Given the description of an element on the screen output the (x, y) to click on. 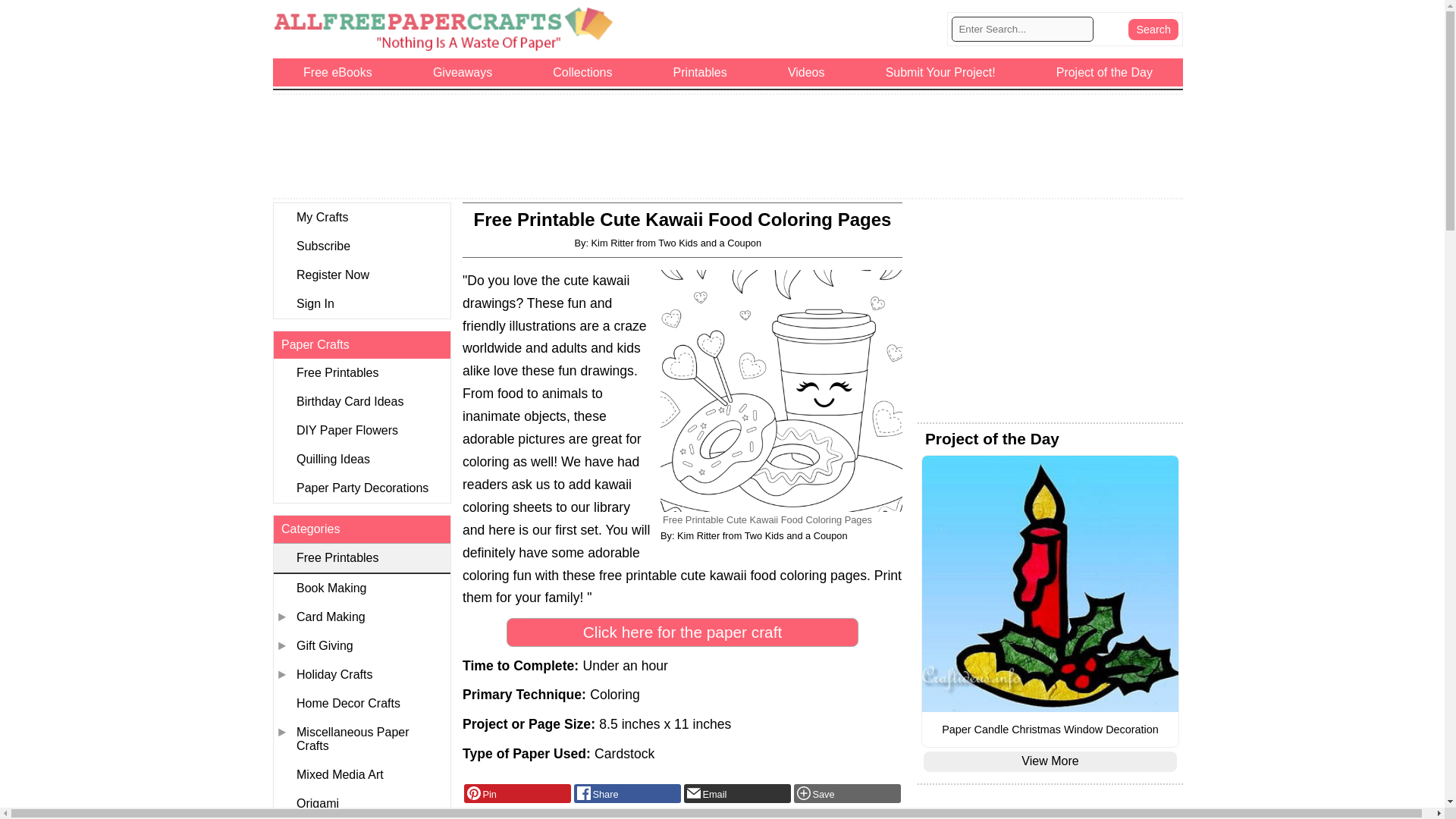
Facebook (627, 793)
Email (737, 793)
My Crafts (361, 217)
Subscribe (361, 246)
Add (847, 793)
Register Now (361, 275)
Sign In (361, 303)
Search (1152, 29)
Free Printable Cute Kawaii Food Coloring Pages (781, 390)
